Given the description of an element on the screen output the (x, y) to click on. 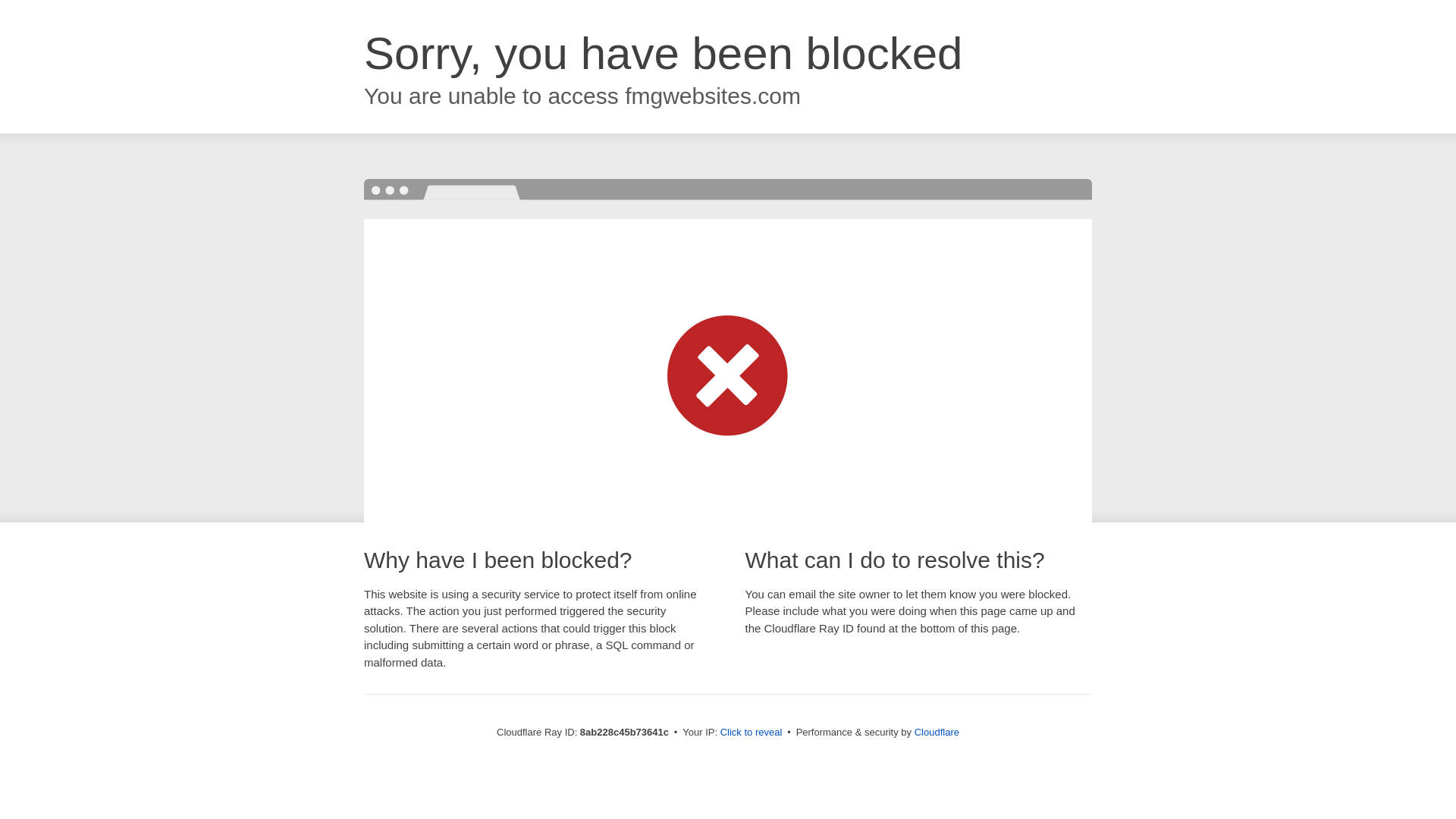
Click to reveal (751, 732)
Cloudflare (936, 731)
